Given the description of an element on the screen output the (x, y) to click on. 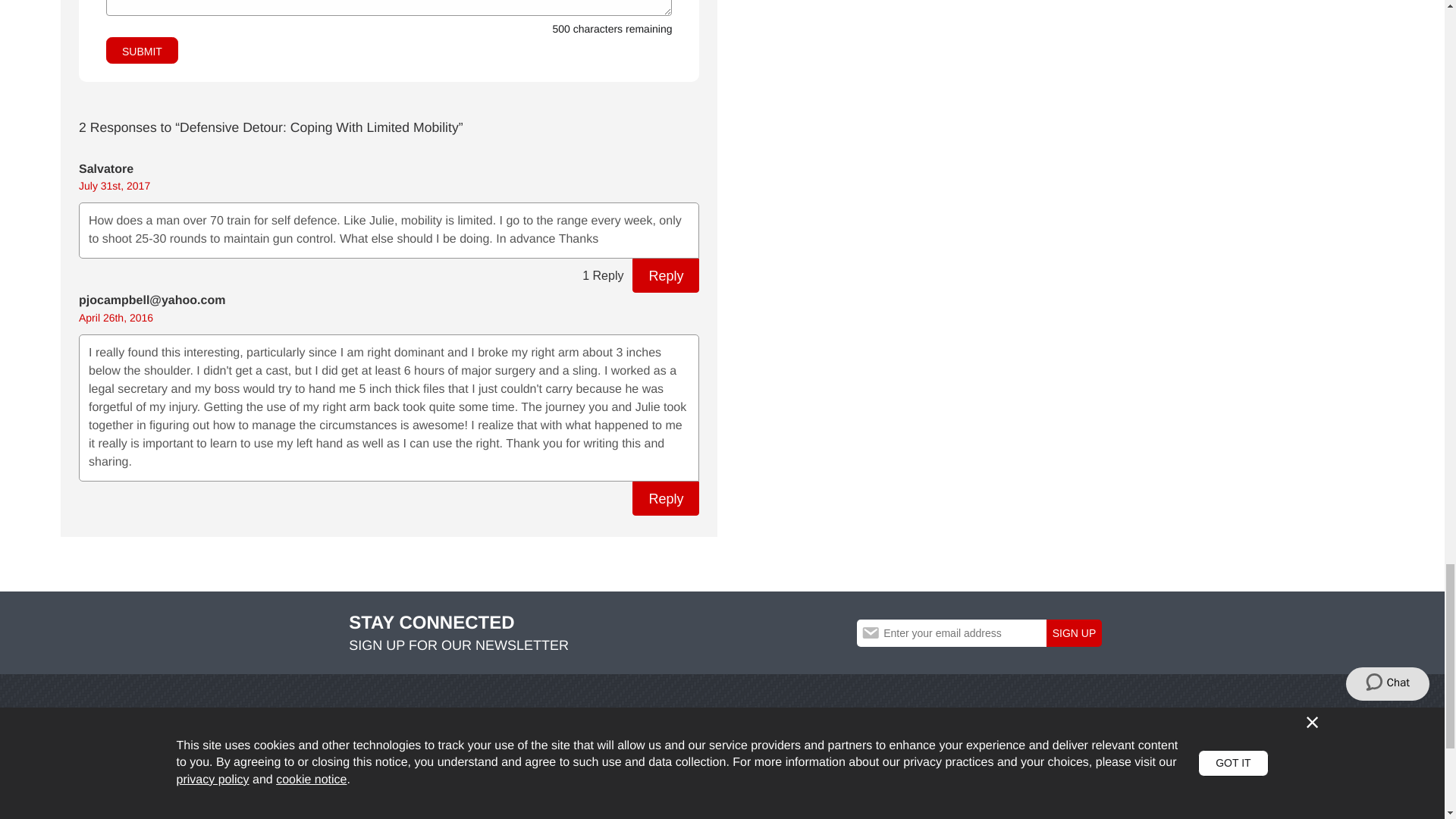
Submit (141, 49)
Reply (664, 498)
Reply (664, 275)
Sign Up (1074, 633)
Submit (141, 49)
Sign Up (1074, 633)
Home (130, 760)
1 Reply (602, 275)
